Given the description of an element on the screen output the (x, y) to click on. 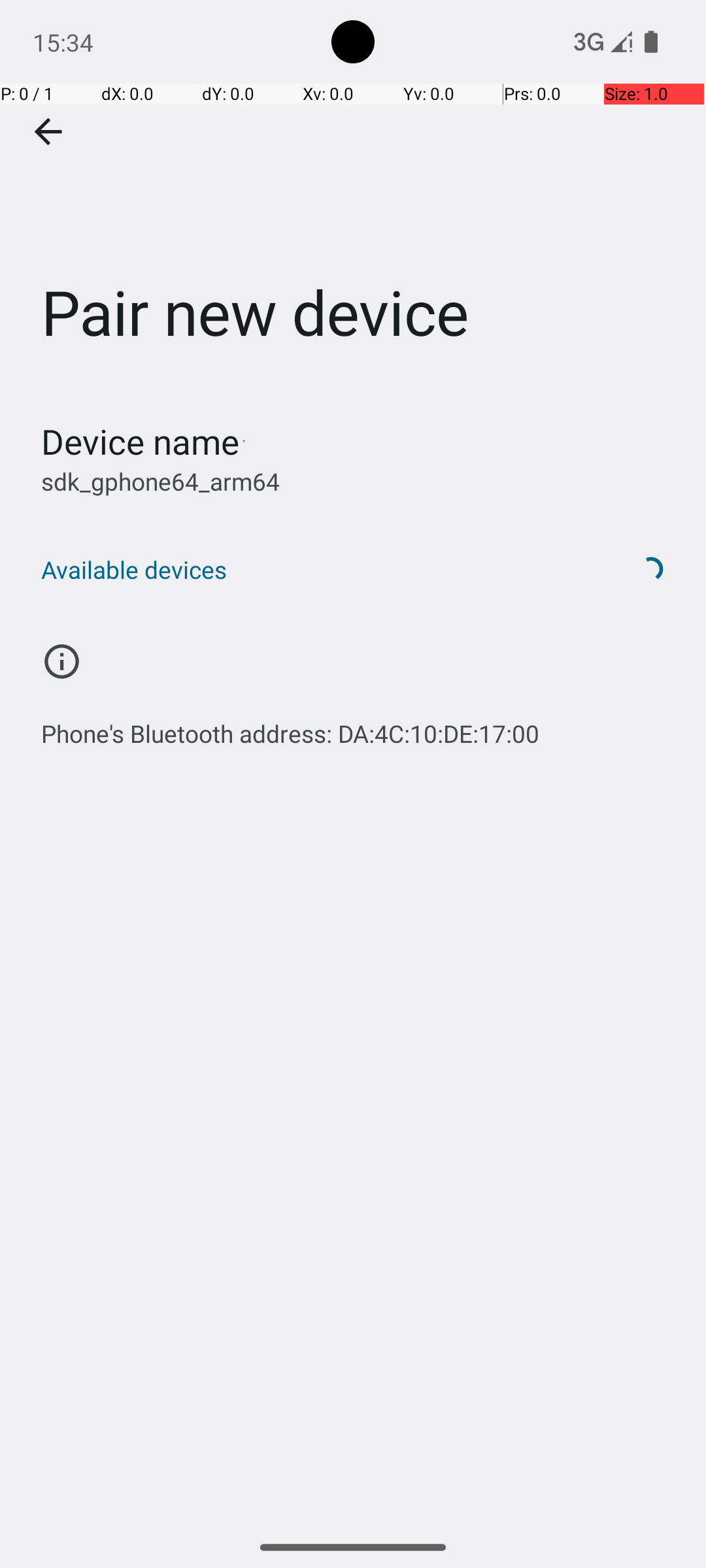
Available devices Element type: android.widget.TextView (318, 569)
Phone's Bluetooth address: DA:4C:10:DE:17:00 Element type: android.widget.TextView (290, 726)
